Given the description of an element on the screen output the (x, y) to click on. 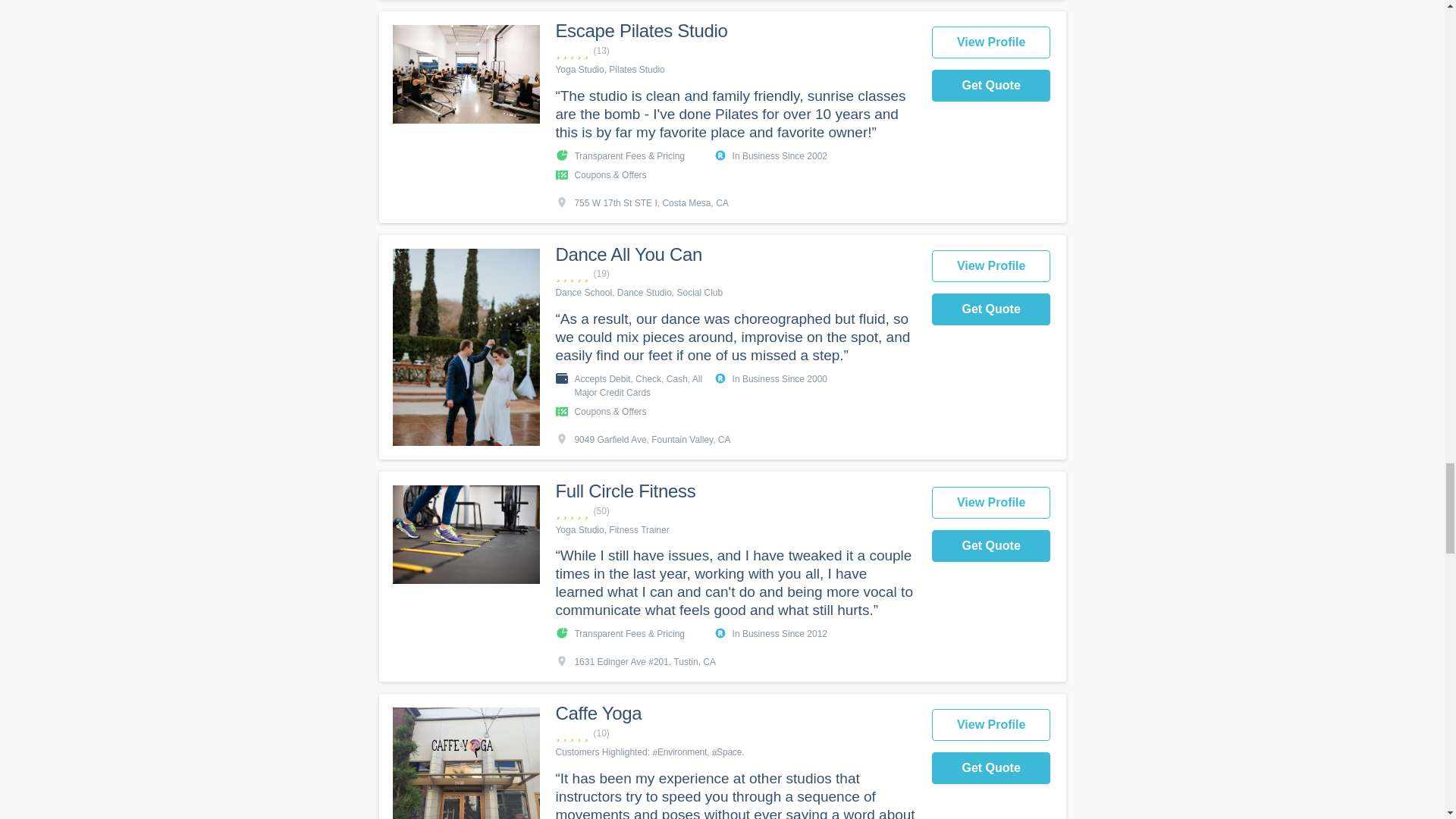
5.0 (734, 511)
5.0 (734, 273)
4.7 (734, 733)
5.0 (734, 51)
